Given the description of an element on the screen output the (x, y) to click on. 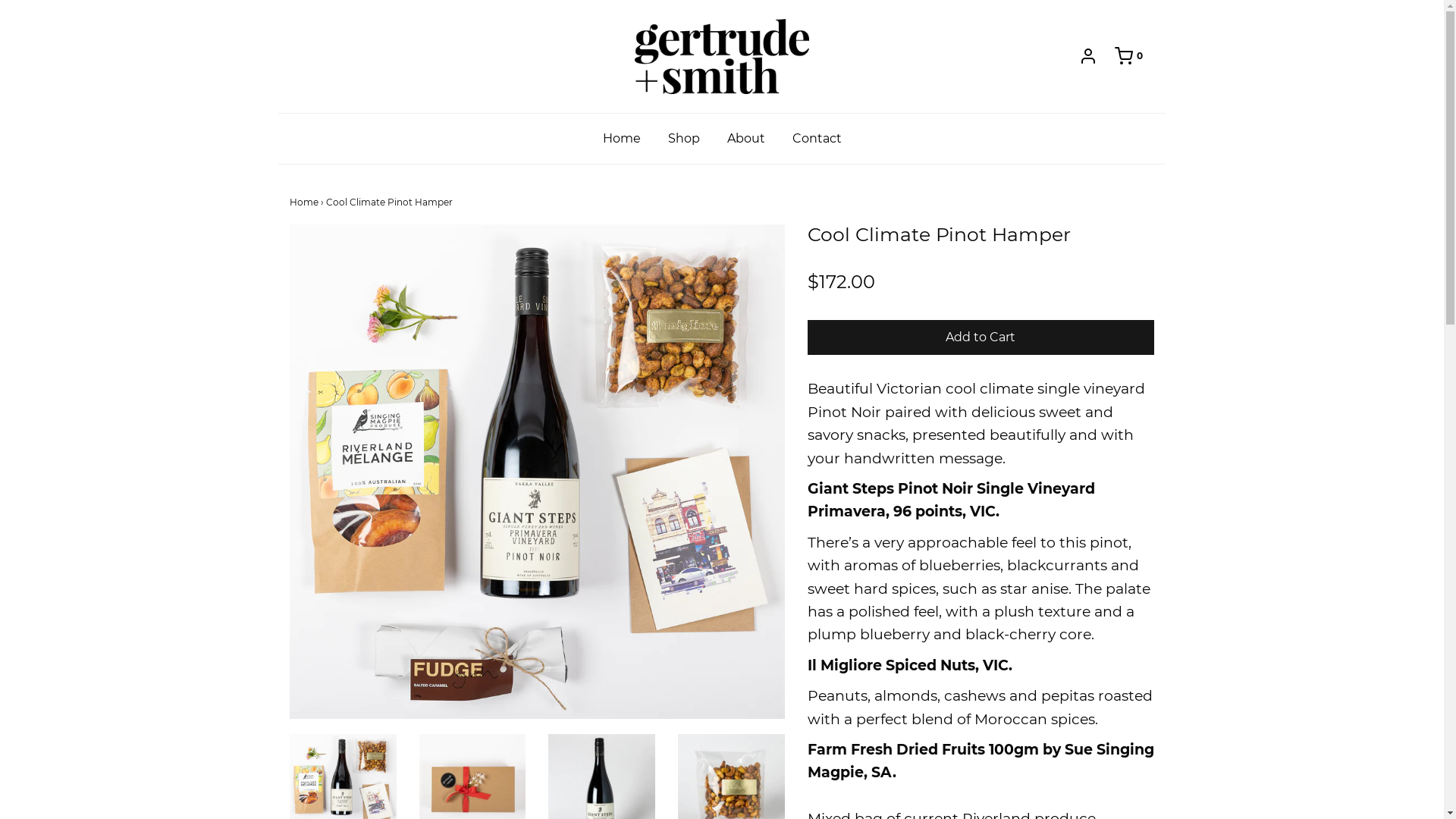
Home Element type: text (621, 138)
0 Element type: text (1120, 56)
Log in Element type: hover (1088, 56)
Shop Element type: text (683, 138)
Home Element type: text (303, 201)
Add to Cart Element type: text (980, 337)
Contact Element type: text (817, 138)
About Element type: text (745, 138)
